Given the description of an element on the screen output the (x, y) to click on. 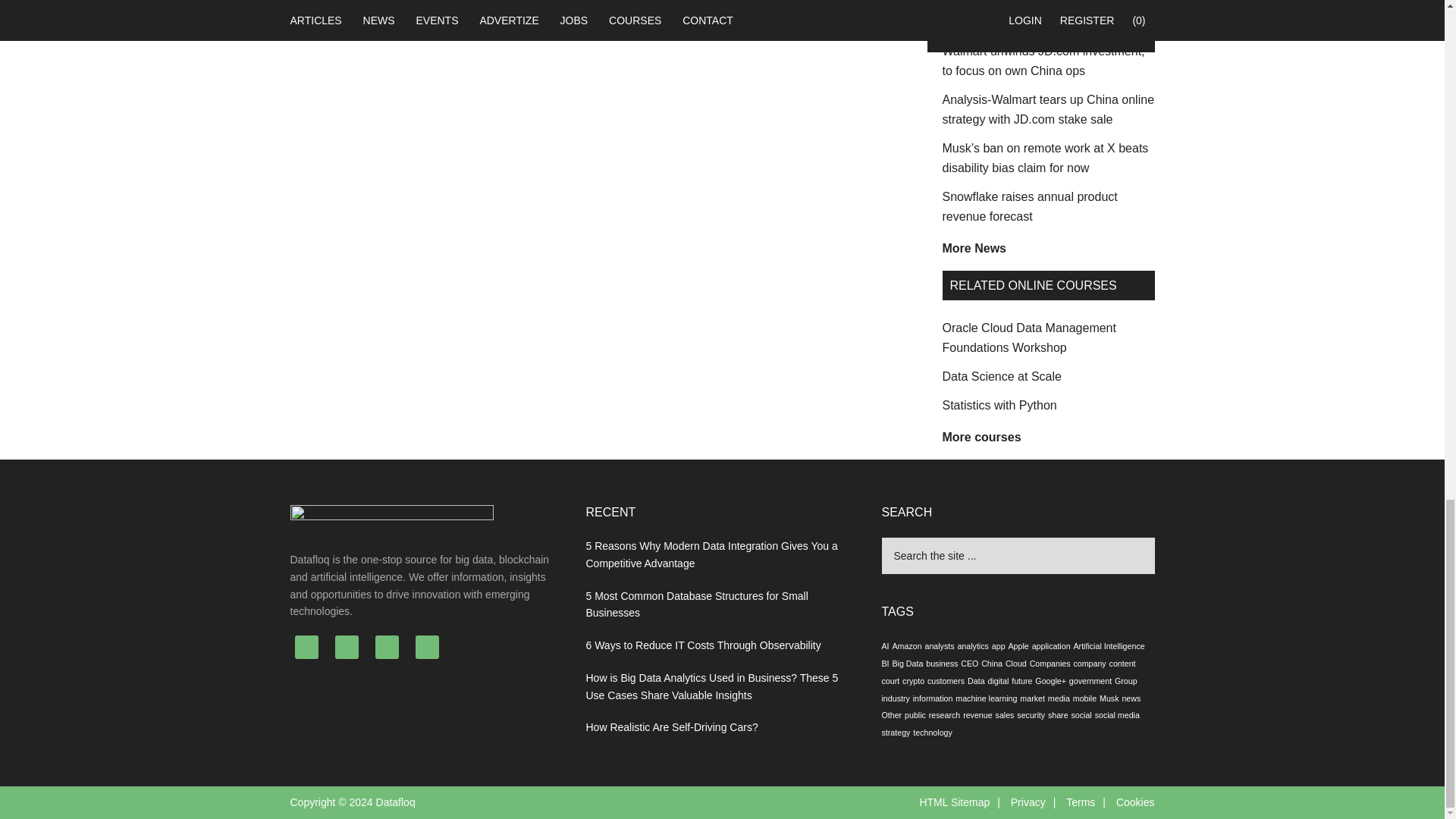
Walmart unwinds JD.com investment, to focus on own China ops (1043, 60)
Snowflake raises annual product revenue forecast (1029, 206)
Soccer-Ronaldo launches YouTube channel (1036, 14)
Oracle Cloud Data Management Foundations Workshop (1028, 337)
Statistics with Python (999, 404)
Data Science at Scale (1001, 376)
